Given the description of an element on the screen output the (x, y) to click on. 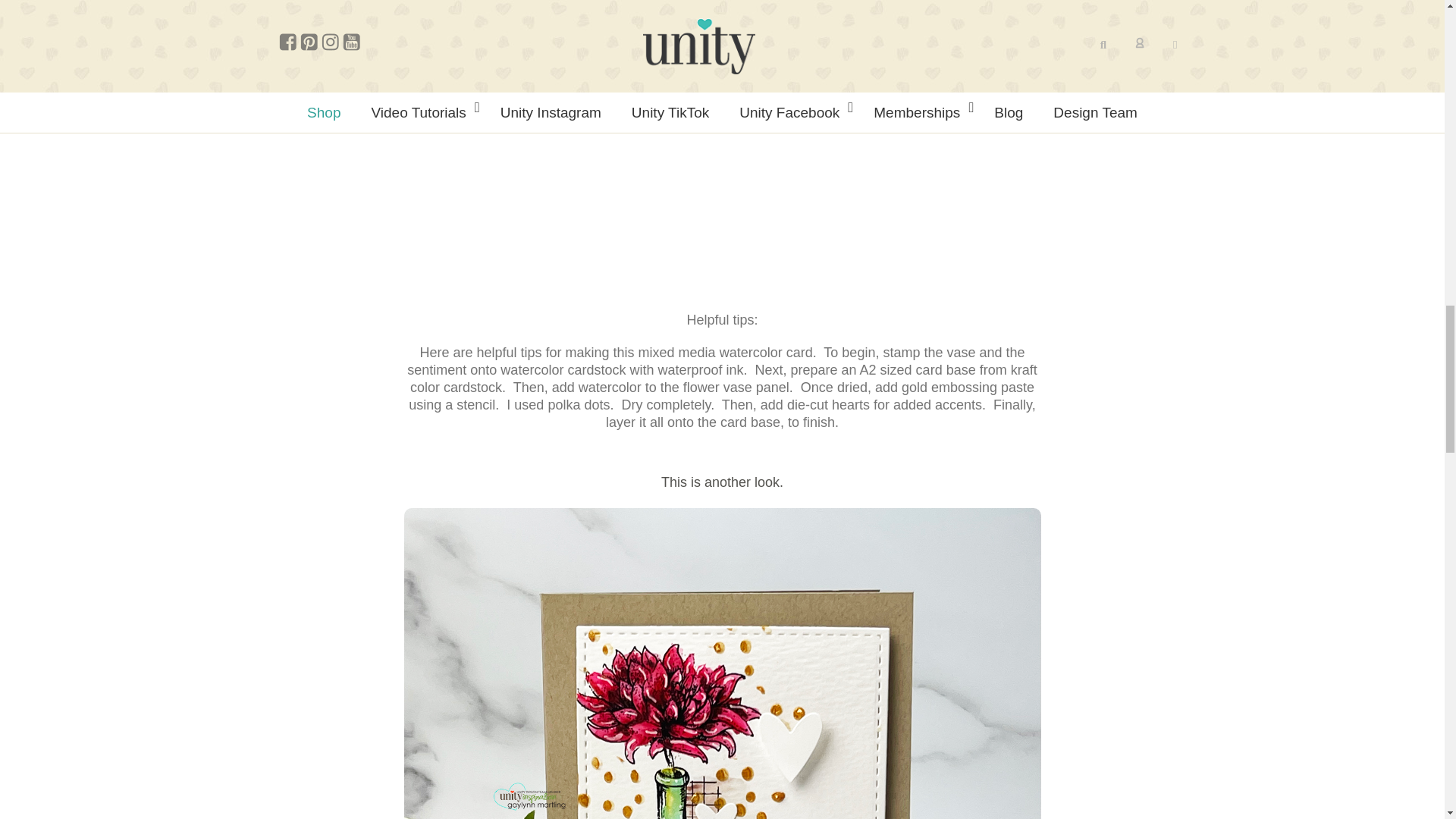
Mixed Media Watercolor Flower Vase Card (593, 183)
